Given the description of an element on the screen output the (x, y) to click on. 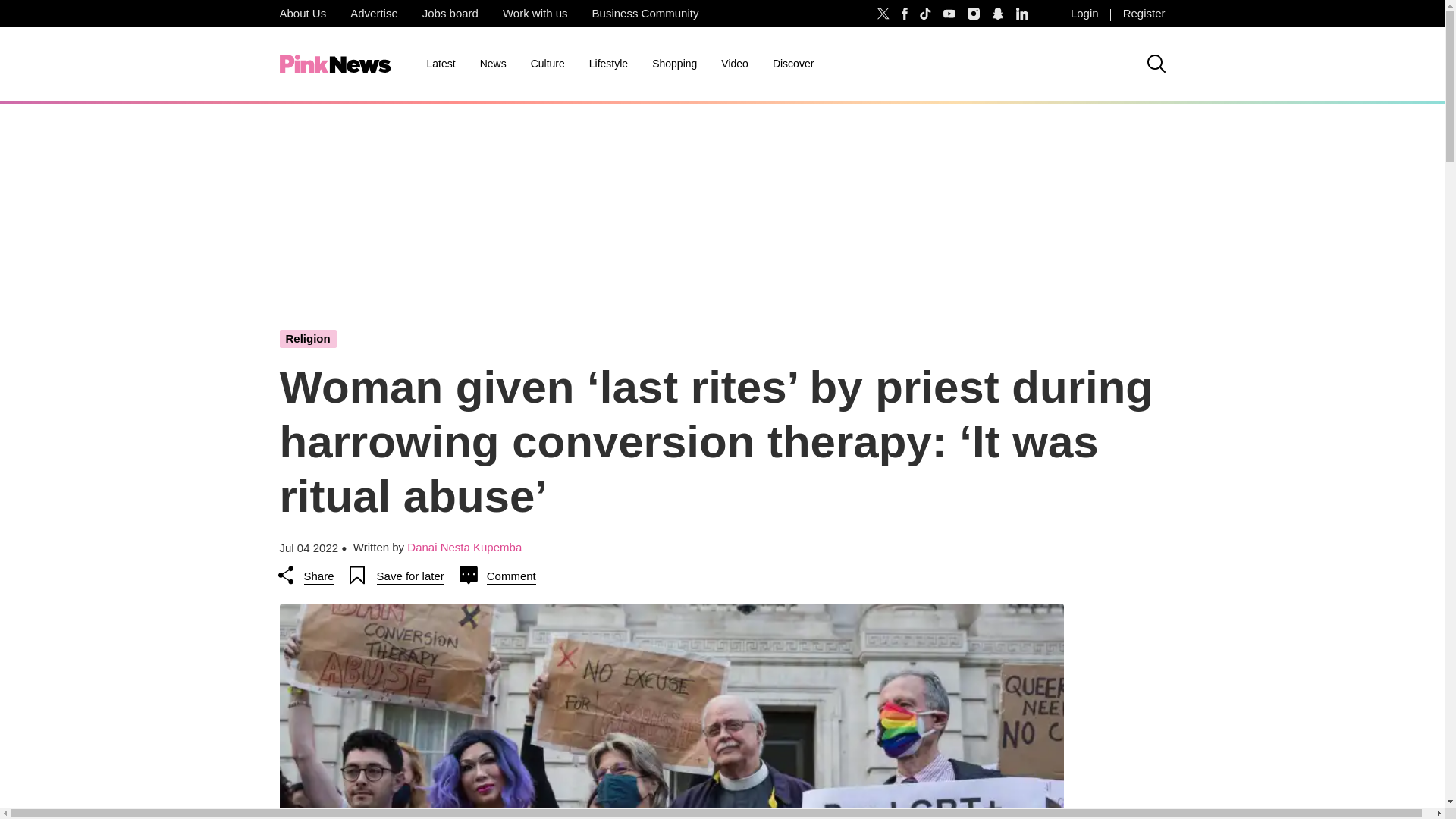
News (493, 63)
Work with us (534, 13)
Register (1143, 13)
Follow PinkNews on LinkedIn (1021, 13)
Business Community (645, 13)
Culture (547, 63)
Latest (440, 63)
Jobs board (450, 13)
Lifestyle (608, 63)
Advertise (373, 13)
